Given the description of an element on the screen output the (x, y) to click on. 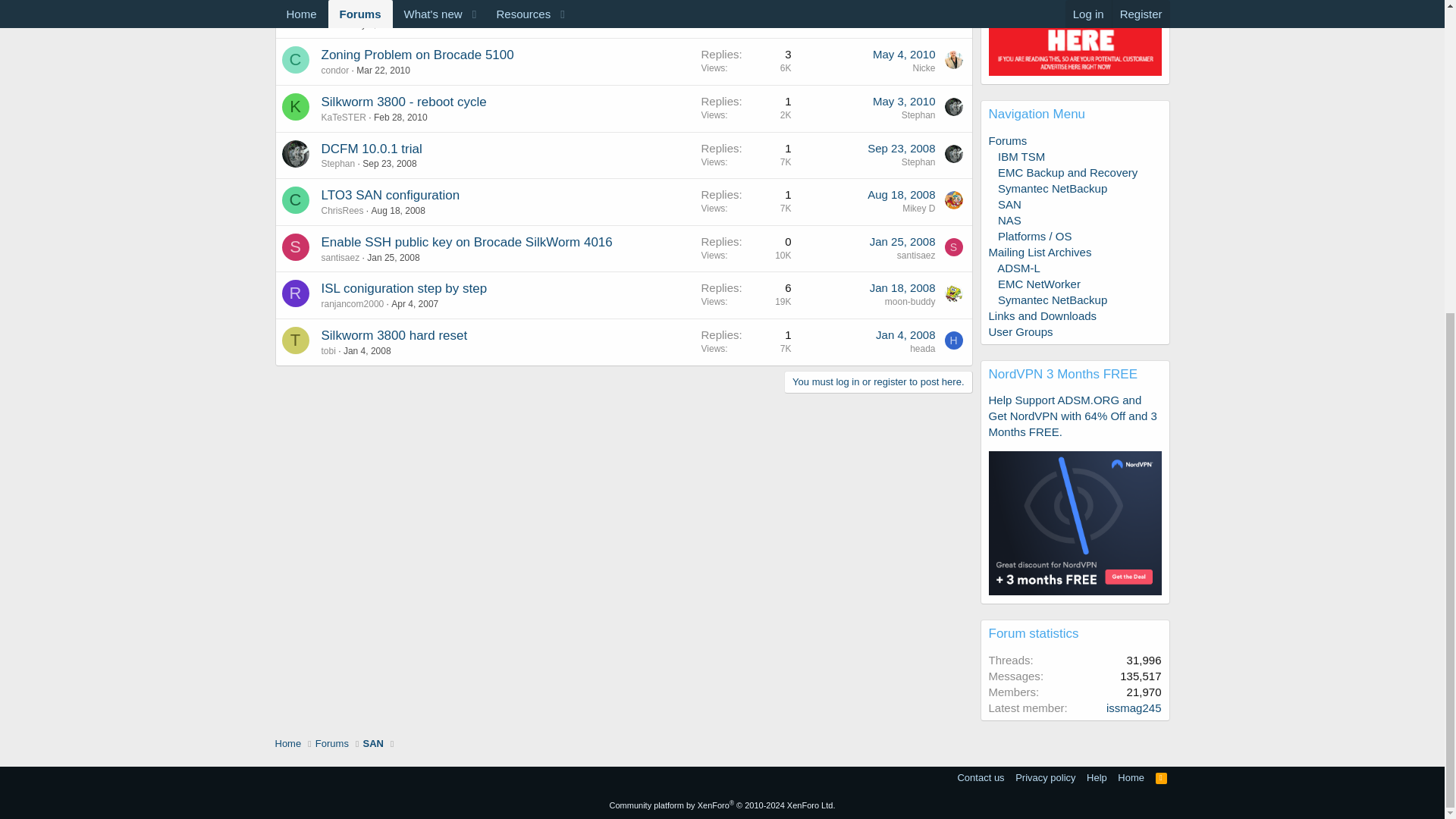
May 4, 2010 at 4:48 AM (904, 53)
May 1, 2012 at 7:52 AM (373, 23)
Mar 22, 2010 at 7:01 PM (383, 70)
First message reaction score: 0 (745, 61)
May 1, 2012 at 7:52 AM (904, 7)
First message reaction score: 0 (745, 18)
